Given the description of an element on the screen output the (x, y) to click on. 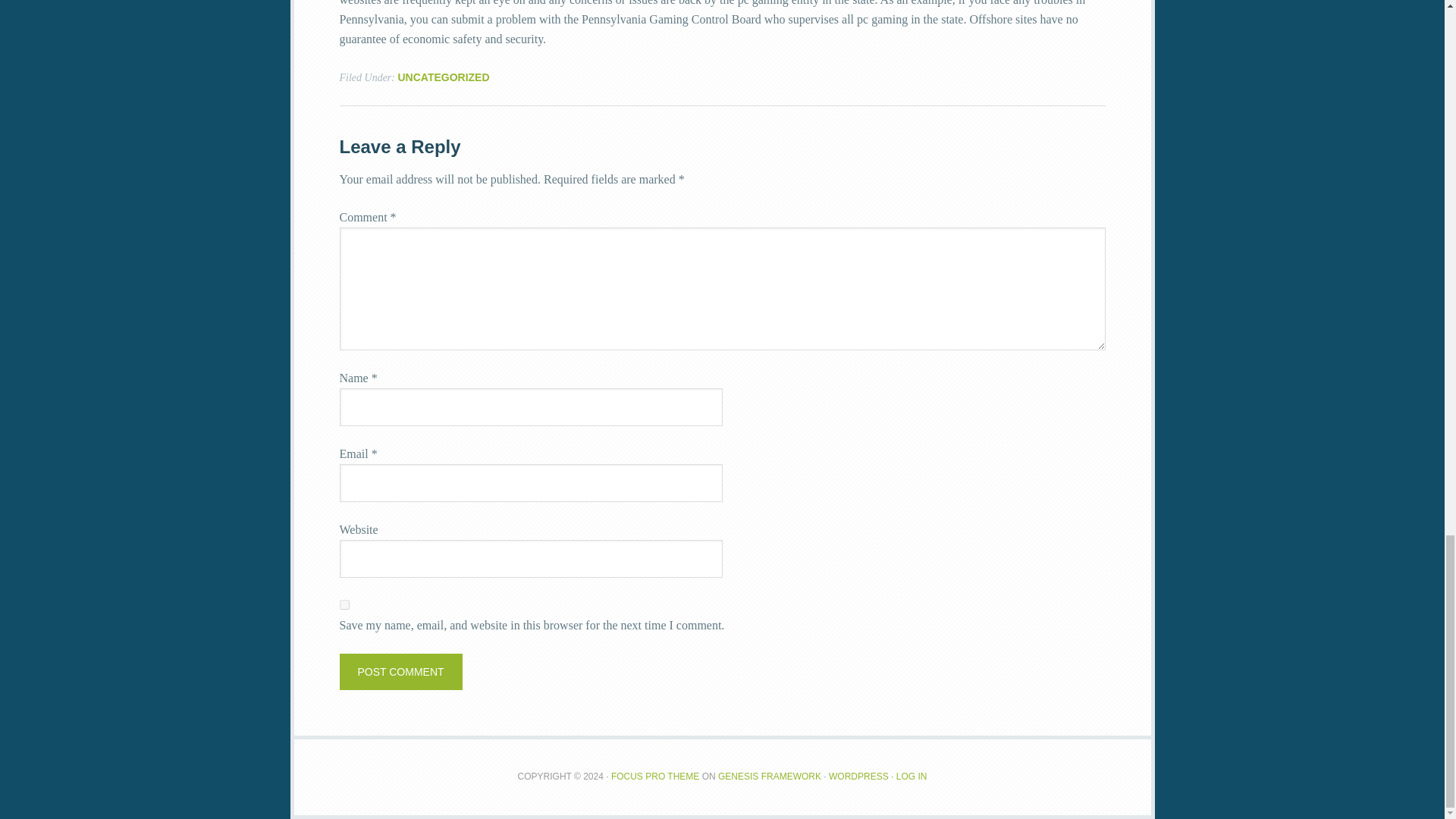
Post Comment (401, 671)
UNCATEGORIZED (443, 77)
yes (344, 604)
FOCUS PRO THEME (654, 776)
Post Comment (401, 671)
GENESIS FRAMEWORK (769, 776)
LOG IN (911, 776)
WORDPRESS (858, 776)
